Given the description of an element on the screen output the (x, y) to click on. 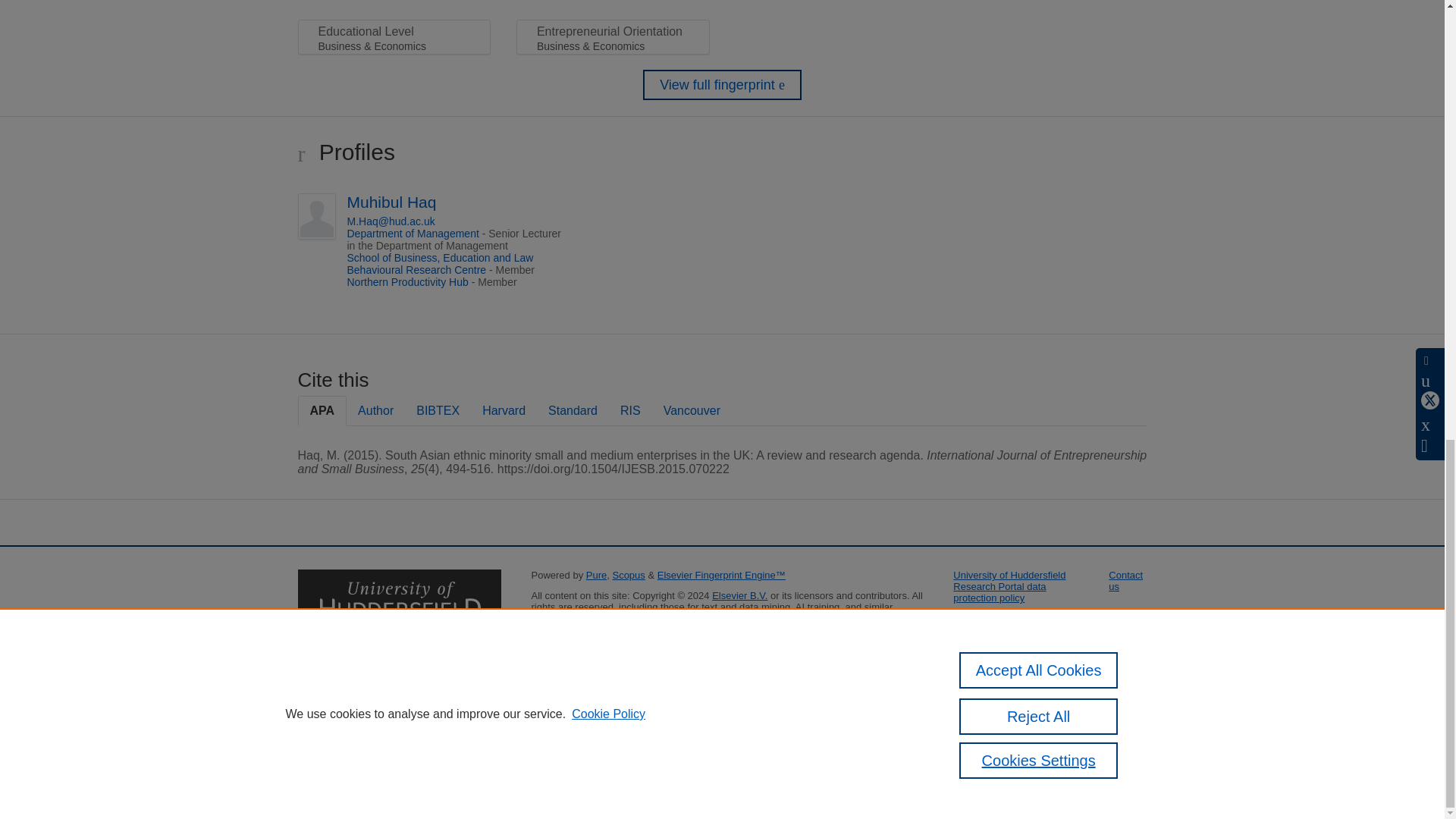
Muhibul Haq (391, 201)
View full fingerprint (722, 84)
Department of Management (413, 233)
School of Business, Education and Law (440, 257)
Behavioural Research Centre (416, 269)
Northern Productivity Hub (407, 282)
